Given the description of an element on the screen output the (x, y) to click on. 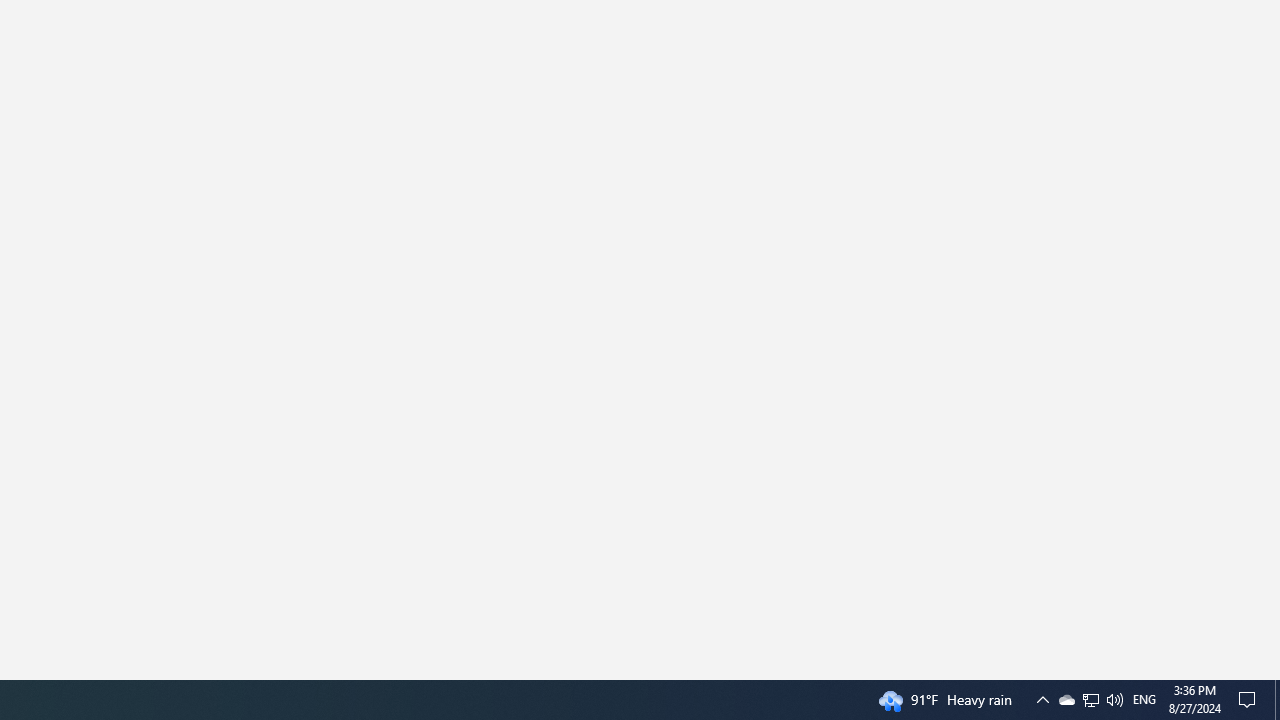
Vertical Small Increase (1272, 672)
